Given the description of an element on the screen output the (x, y) to click on. 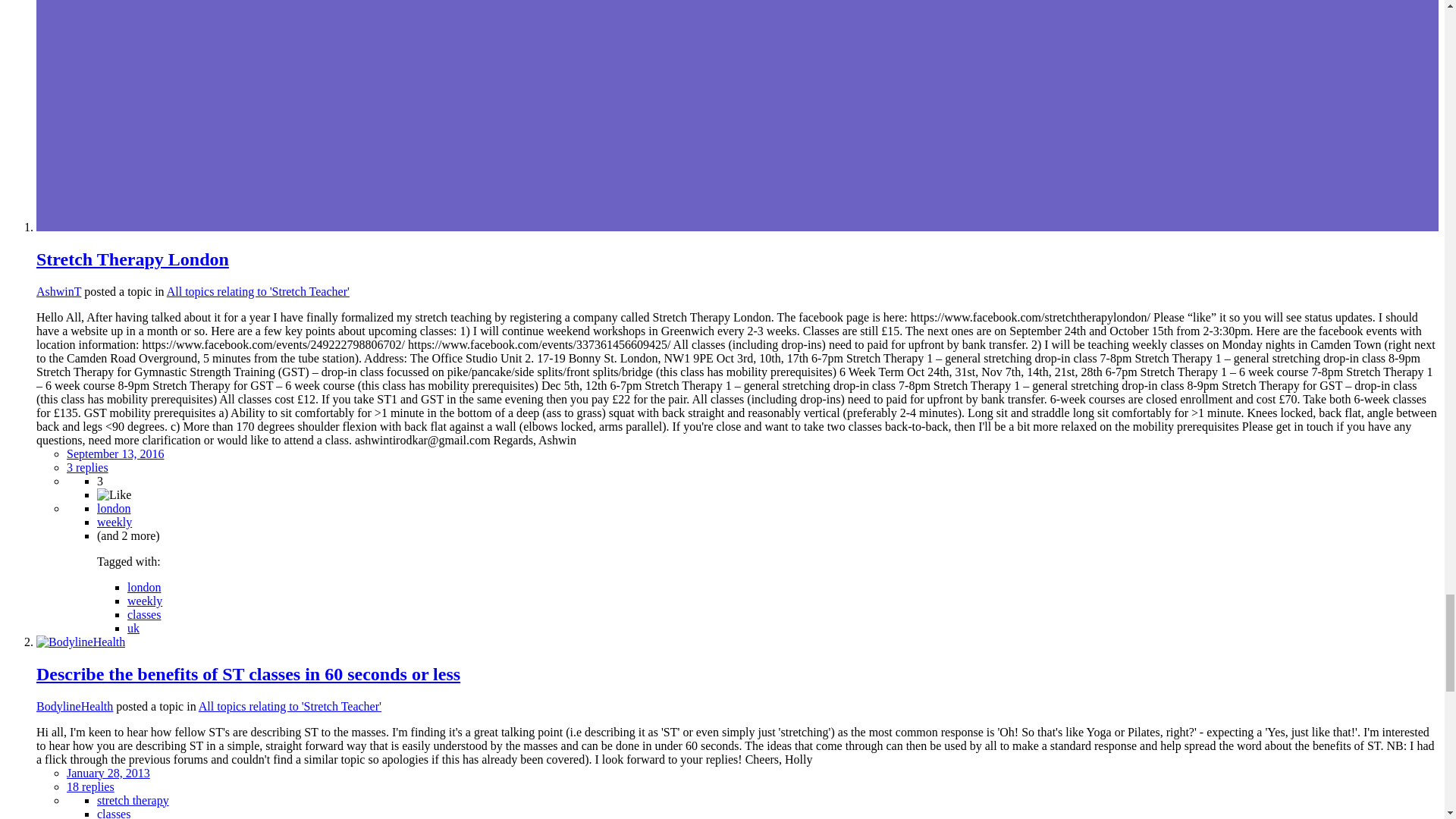
Find other content tagged with 'stretch therapy' (132, 799)
Find other content tagged with 'london' (144, 586)
Find other content tagged with 'uk' (133, 627)
Find other content tagged with 'london' (114, 508)
Go to BodylineHealth's profile (80, 641)
Find other content tagged with 'weekly' (144, 600)
Find other content tagged with 'classes' (144, 614)
Find other content tagged with 'weekly' (114, 521)
Like (114, 494)
Go to BodylineHealth's profile (74, 706)
Go to AshwinT's profile (58, 291)
